Given the description of an element on the screen output the (x, y) to click on. 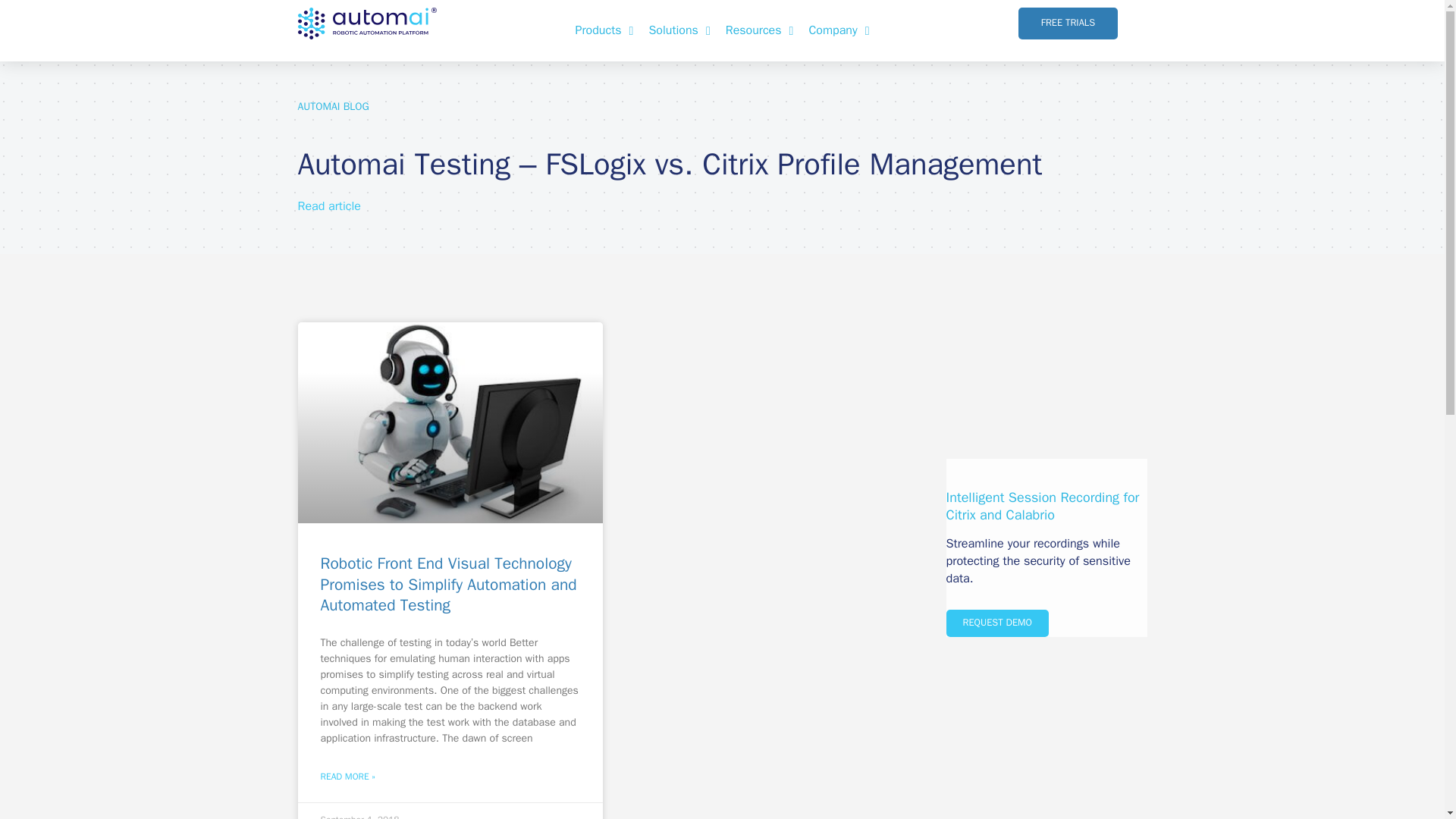
automai (366, 23)
Company (838, 30)
Solutions (678, 30)
Products (604, 30)
FREE TRIALS (1067, 23)
Resources (759, 30)
